Given the description of an element on the screen output the (x, y) to click on. 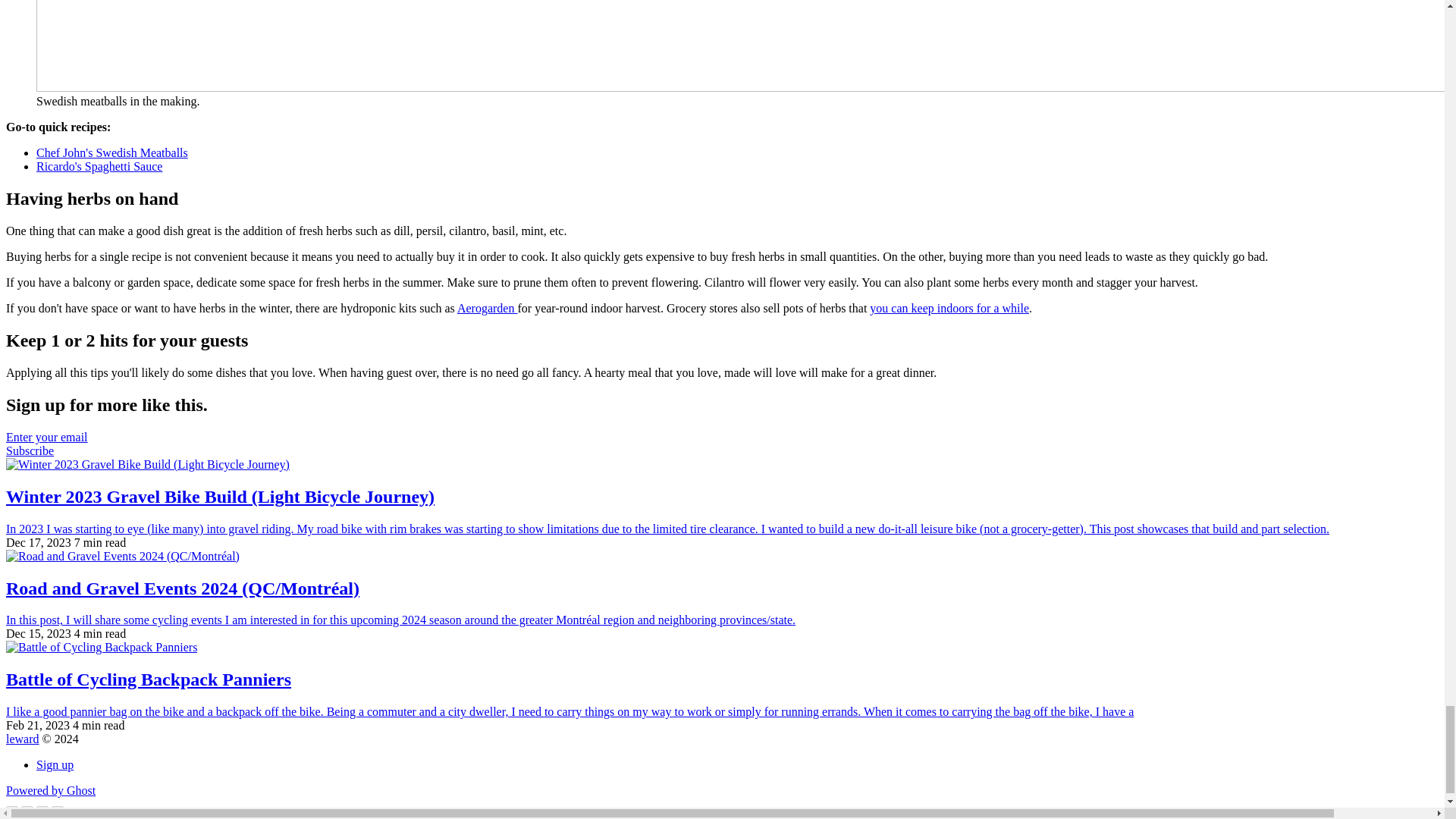
Aerogarden (487, 308)
Chef John's Swedish Meatballs (111, 152)
leward (721, 443)
Share (22, 738)
you can keep indoors for a while (27, 807)
Toggle fullscreen (949, 308)
Powered by Ghost (42, 807)
Sign up (50, 789)
